Given the description of an element on the screen output the (x, y) to click on. 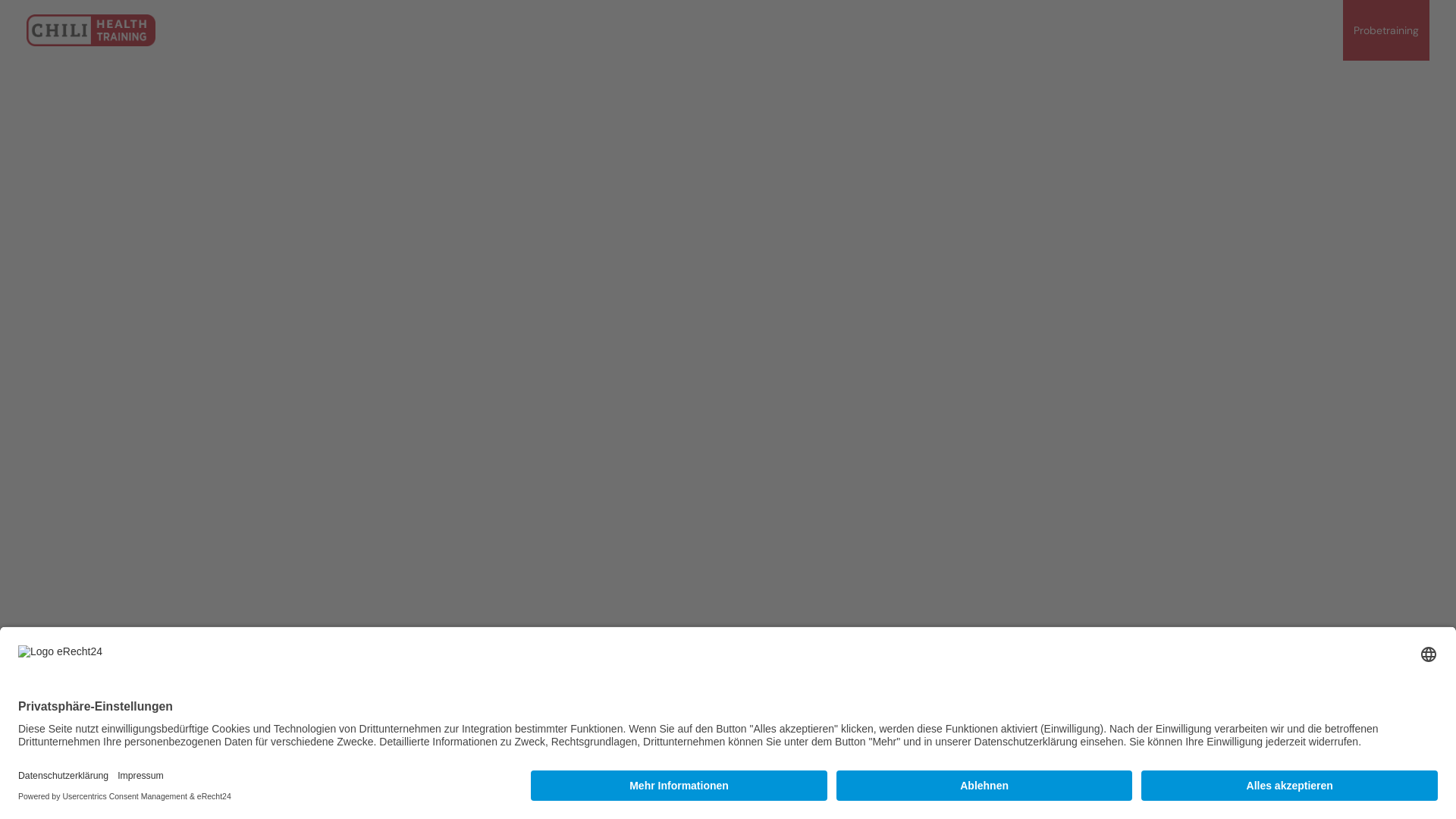
PREISE / ABOS Element type: text (1281, 30)
WELCHES TRAINING? Element type: text (856, 30)
STANDORTE Element type: text (1042, 30)
Probetraining Element type: text (1386, 30)
INFOTHEK Element type: text (1201, 30)
LEISTUNGEN Element type: text (960, 30)
